Given the description of an element on the screen output the (x, y) to click on. 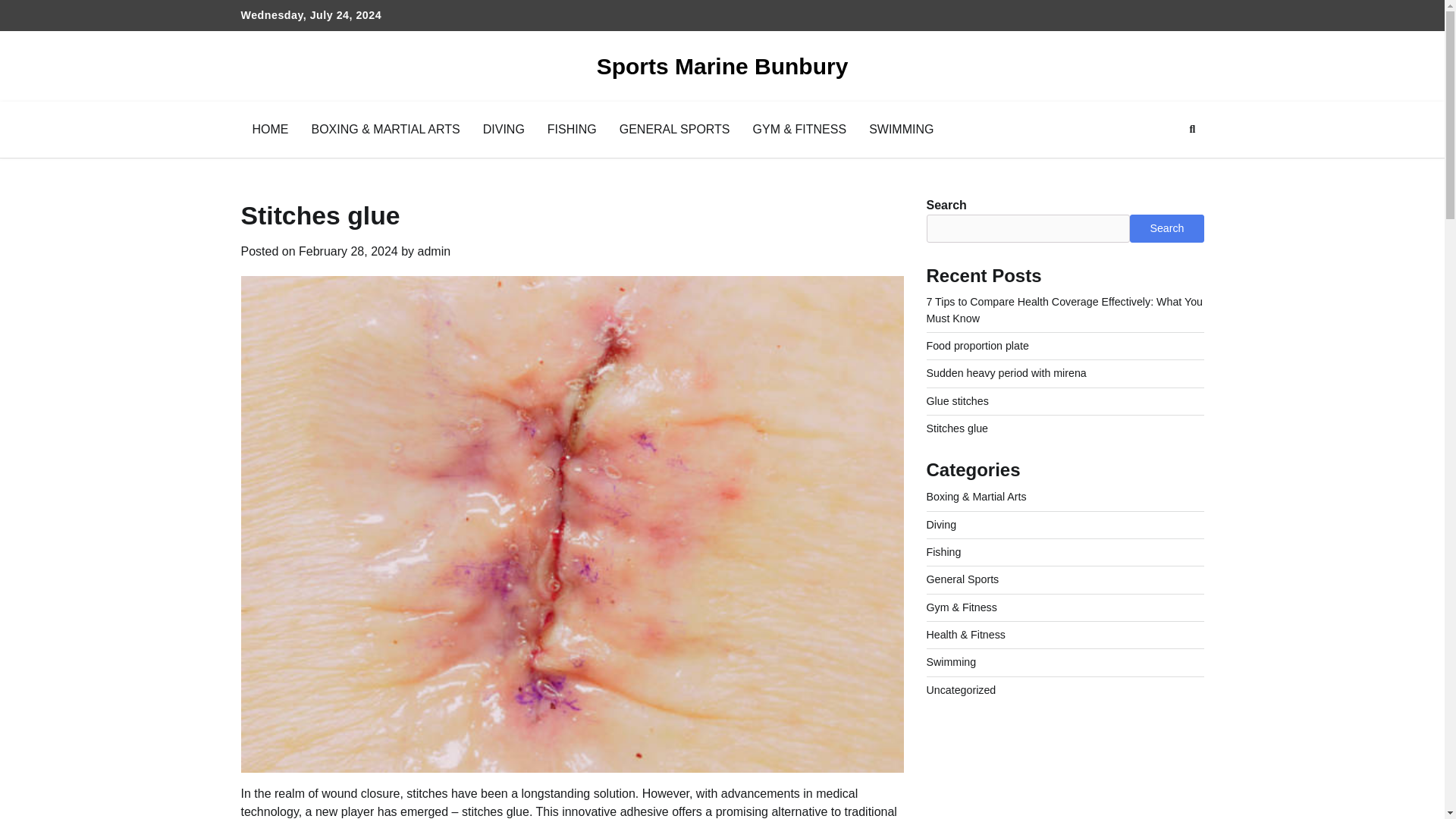
admin (434, 250)
FISHING (571, 128)
Food proportion plate (977, 345)
Sudden heavy period with mirena (1006, 372)
Fishing (943, 551)
Search (1166, 227)
HOME (270, 128)
February 28, 2024 (347, 250)
Glue stitches (957, 400)
GENERAL SPORTS (674, 128)
Search (1164, 165)
General Sports (962, 579)
Stitches glue (957, 428)
SWIMMING (900, 128)
